Given the description of an element on the screen output the (x, y) to click on. 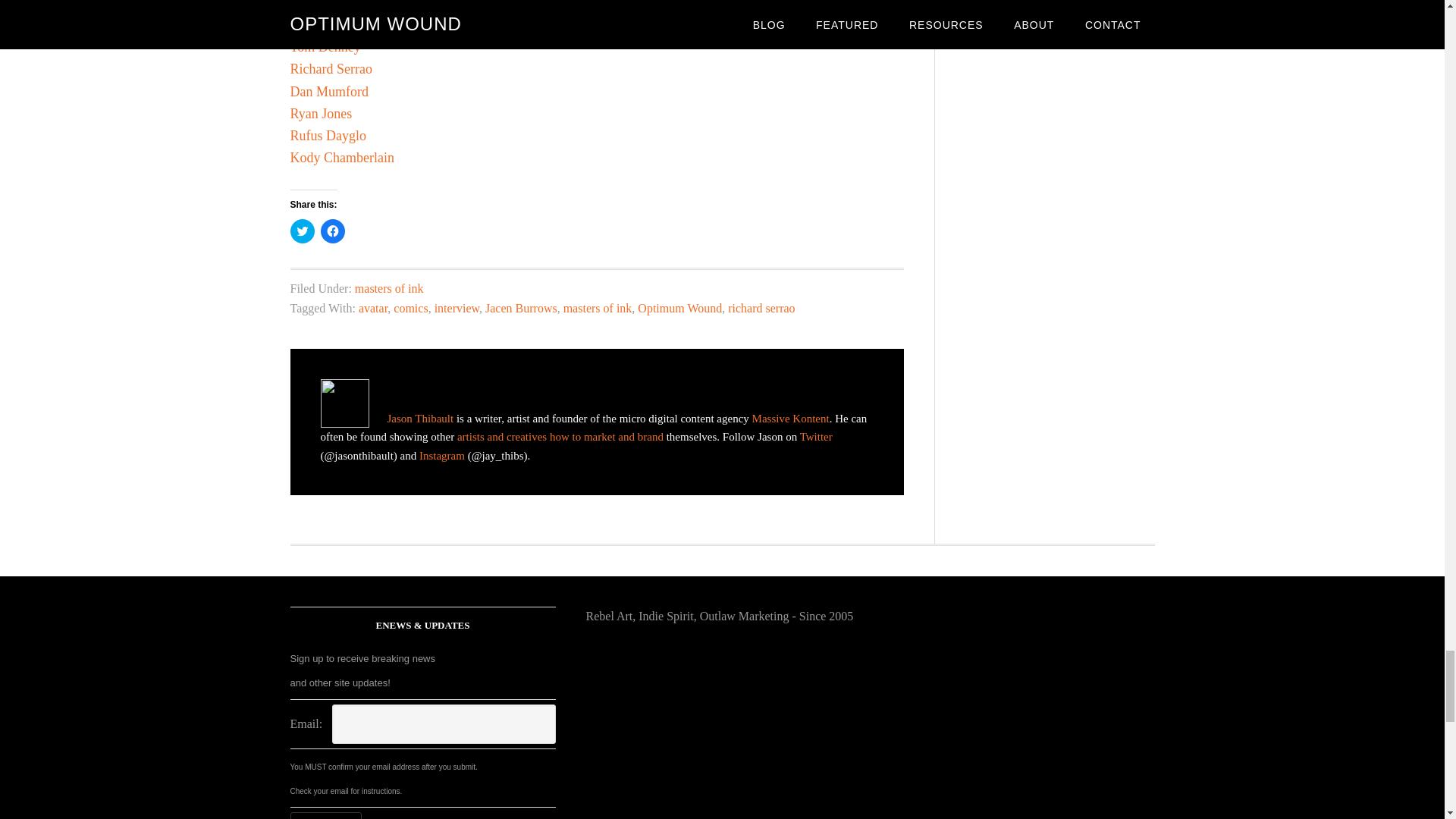
Instagram (441, 455)
richard serrao (761, 308)
Jim Blanchard (328, 5)
Rufus Dayglo (327, 135)
Kody Chamberlain (341, 157)
Nathan Fox (321, 24)
masters of ink (597, 308)
avatar (372, 308)
Dan Mumford (328, 90)
Twitter (815, 436)
Hit It (325, 815)
Jacen Burrows (520, 308)
interview (456, 308)
Nathan Fox (321, 24)
comics (410, 308)
